Given the description of an element on the screen output the (x, y) to click on. 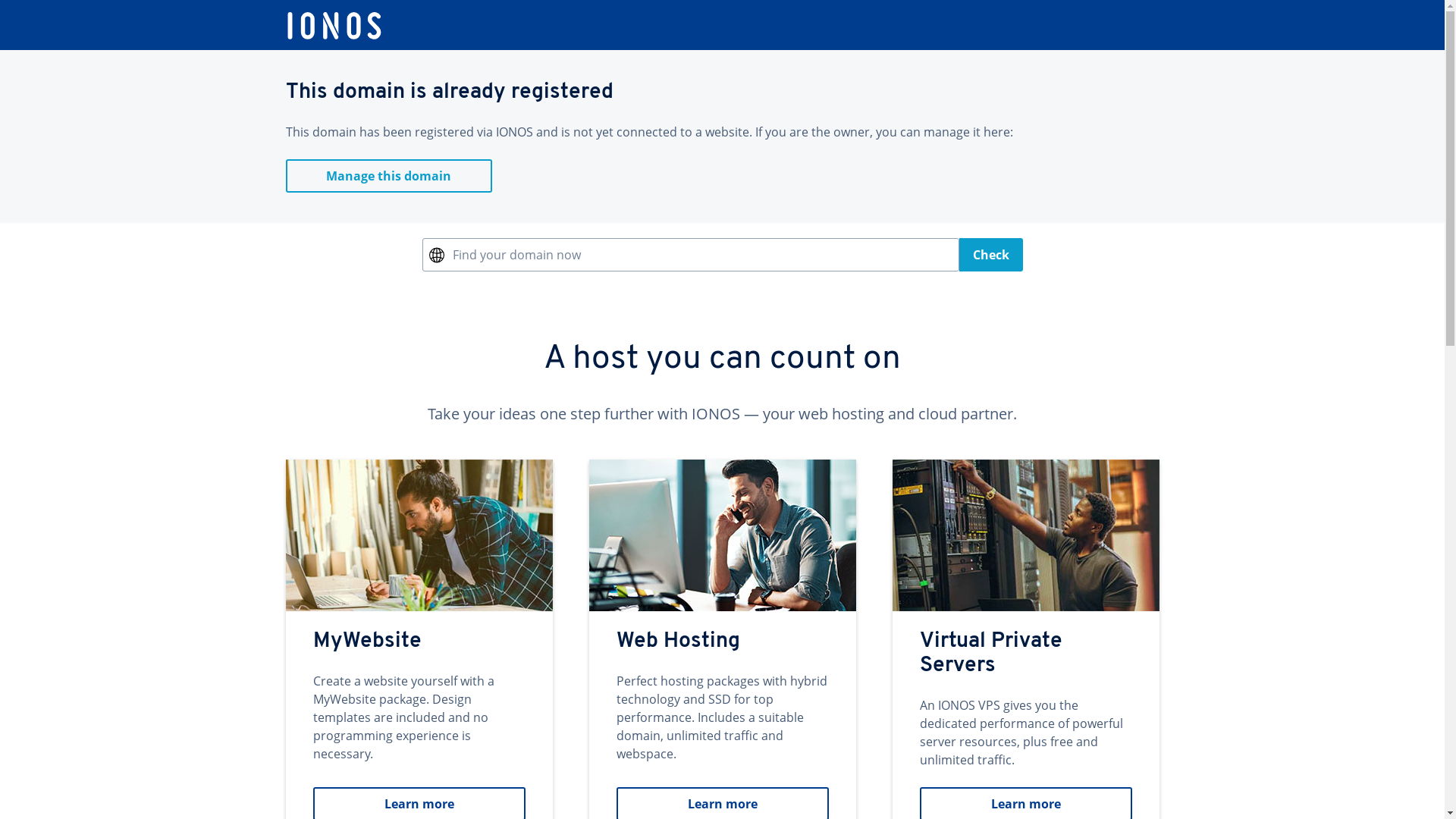
Manage this domain Element type: text (388, 175)
Check Element type: text (991, 254)
